Given the description of an element on the screen output the (x, y) to click on. 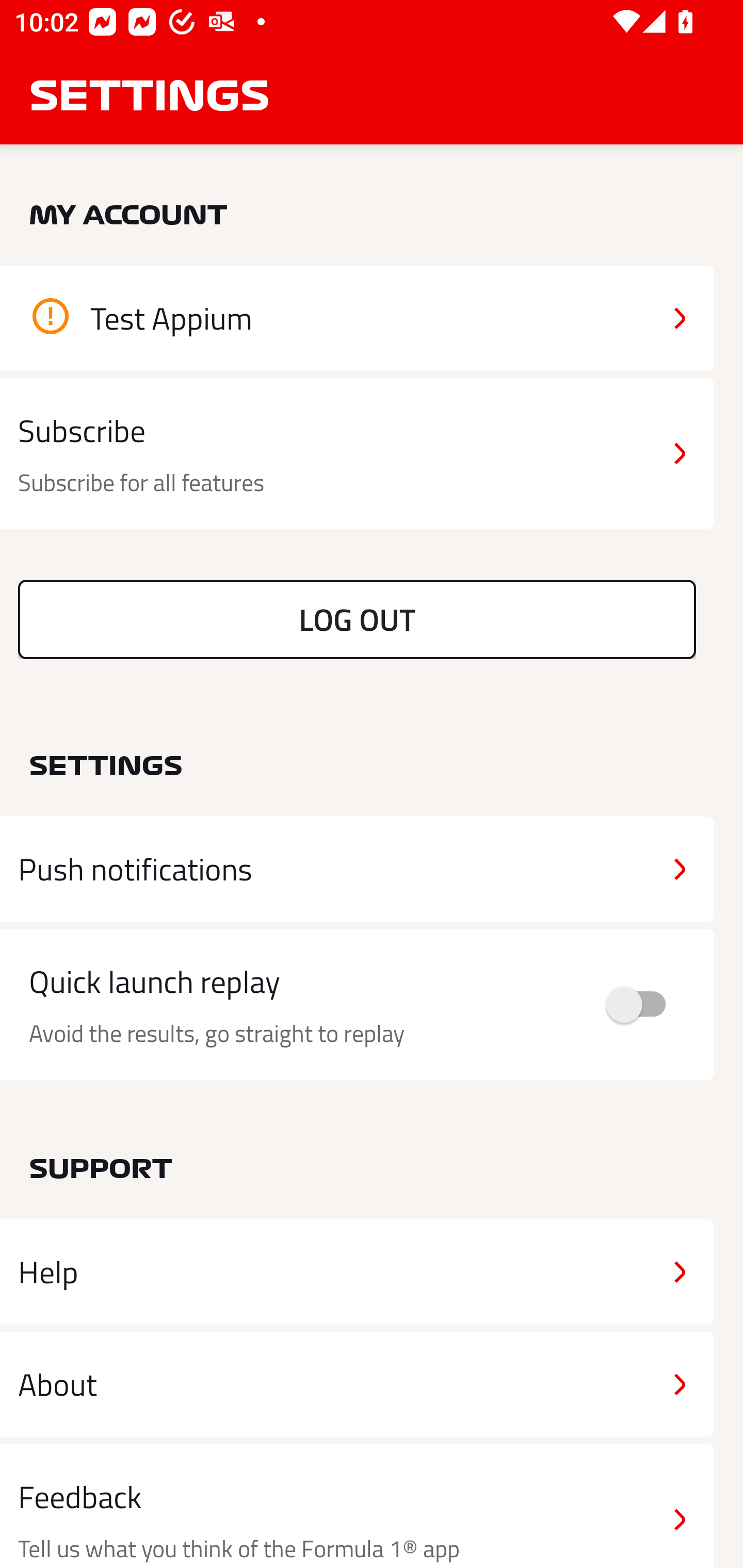
Test Appium (357, 317)
Subscribe Subscribe for all features (357, 453)
LOG OUT (356, 619)
Push notifications (357, 868)
Help (357, 1271)
About (357, 1383)
